Given the description of an element on the screen output the (x, y) to click on. 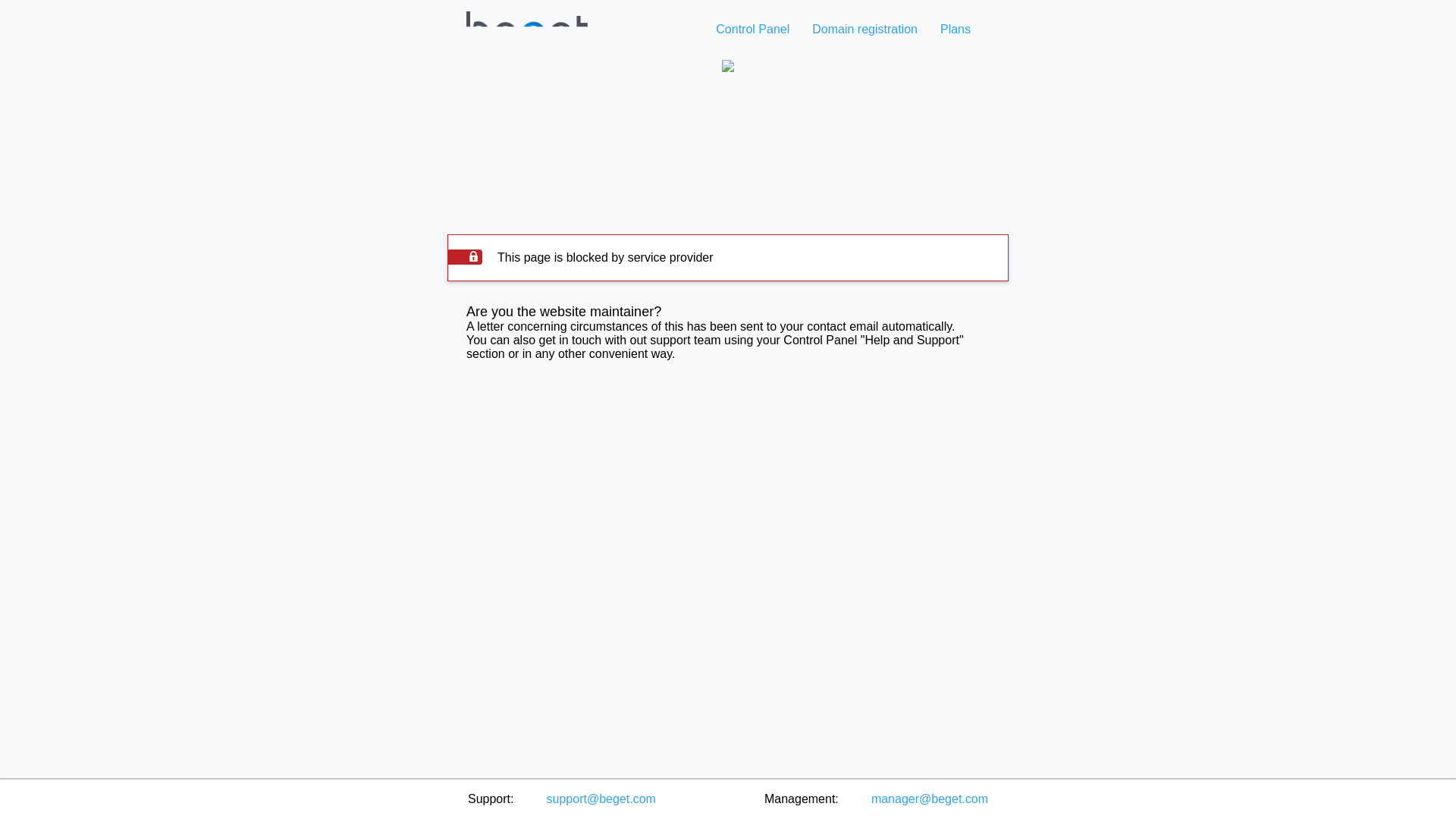
Plans (954, 29)
Domain registration (864, 29)
Control Panel (752, 29)
Web hosting home page (528, 51)
